Given the description of an element on the screen output the (x, y) to click on. 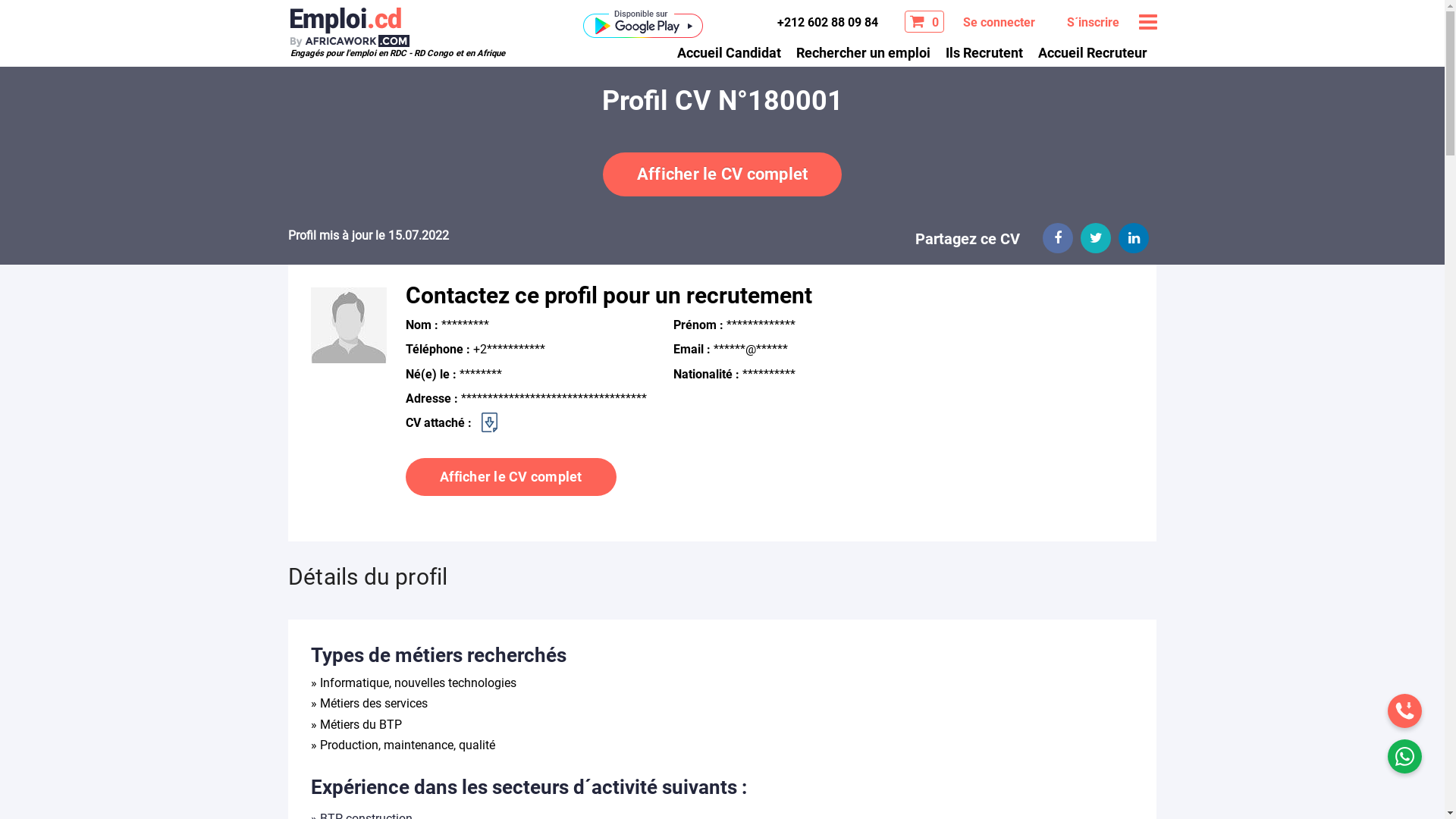
Accueil Recruteur Element type: text (1091, 51)
0 Element type: text (923, 21)
Ils Recrutent Element type: text (983, 51)
+212 602 88 09 84 Element type: text (825, 22)
Afficher le CV complet Element type: text (510, 477)
Rechercher un emploi Element type: text (863, 51)
Se connecter Element type: text (997, 22)
Accueil Candidat Element type: text (727, 51)
Afficher le CV complet Element type: text (722, 174)
